Given the description of an element on the screen output the (x, y) to click on. 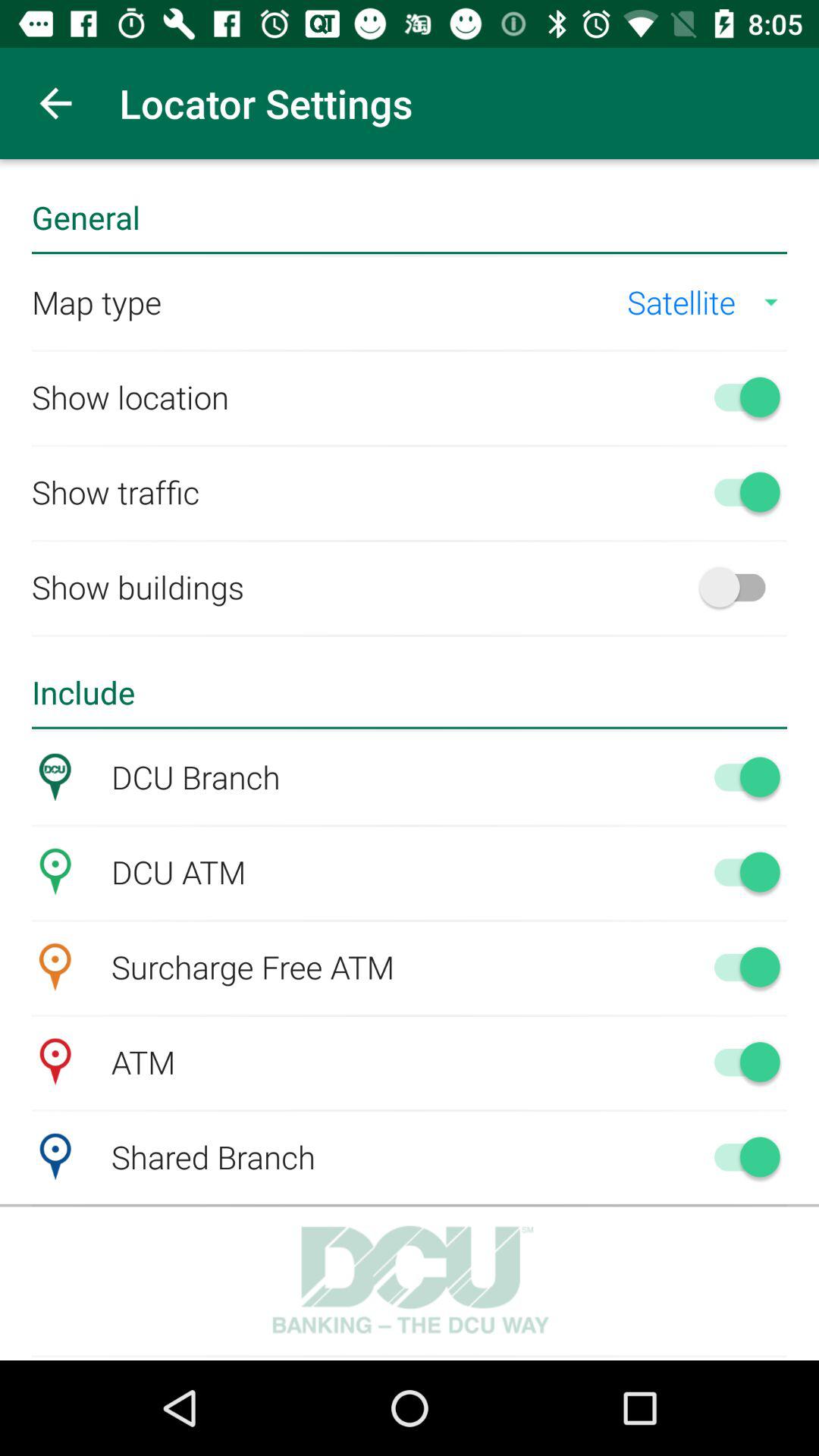
turn-on atm (739, 1061)
